Given the description of an element on the screen output the (x, y) to click on. 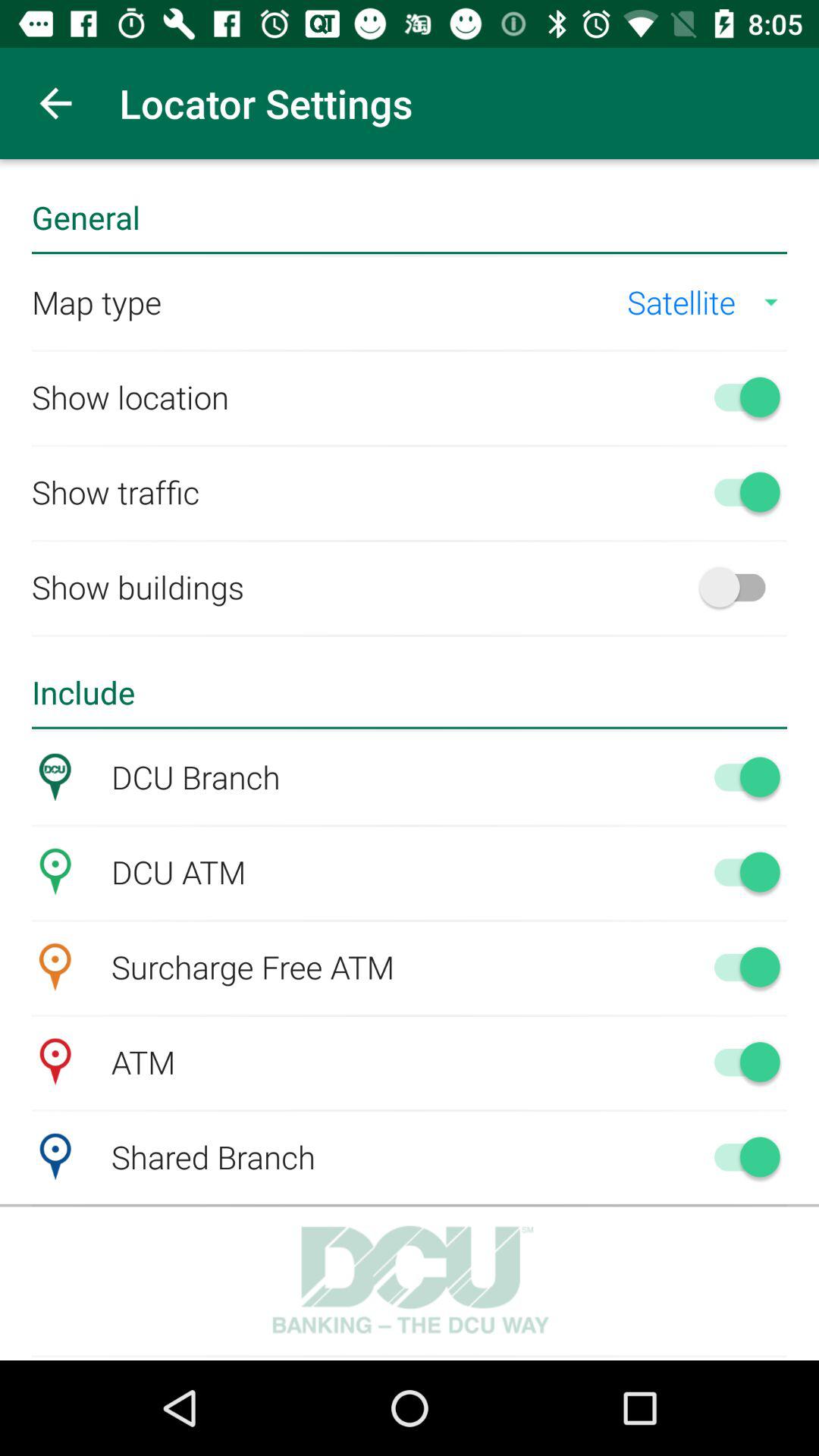
turn-on atm (739, 1061)
